Given the description of an element on the screen output the (x, y) to click on. 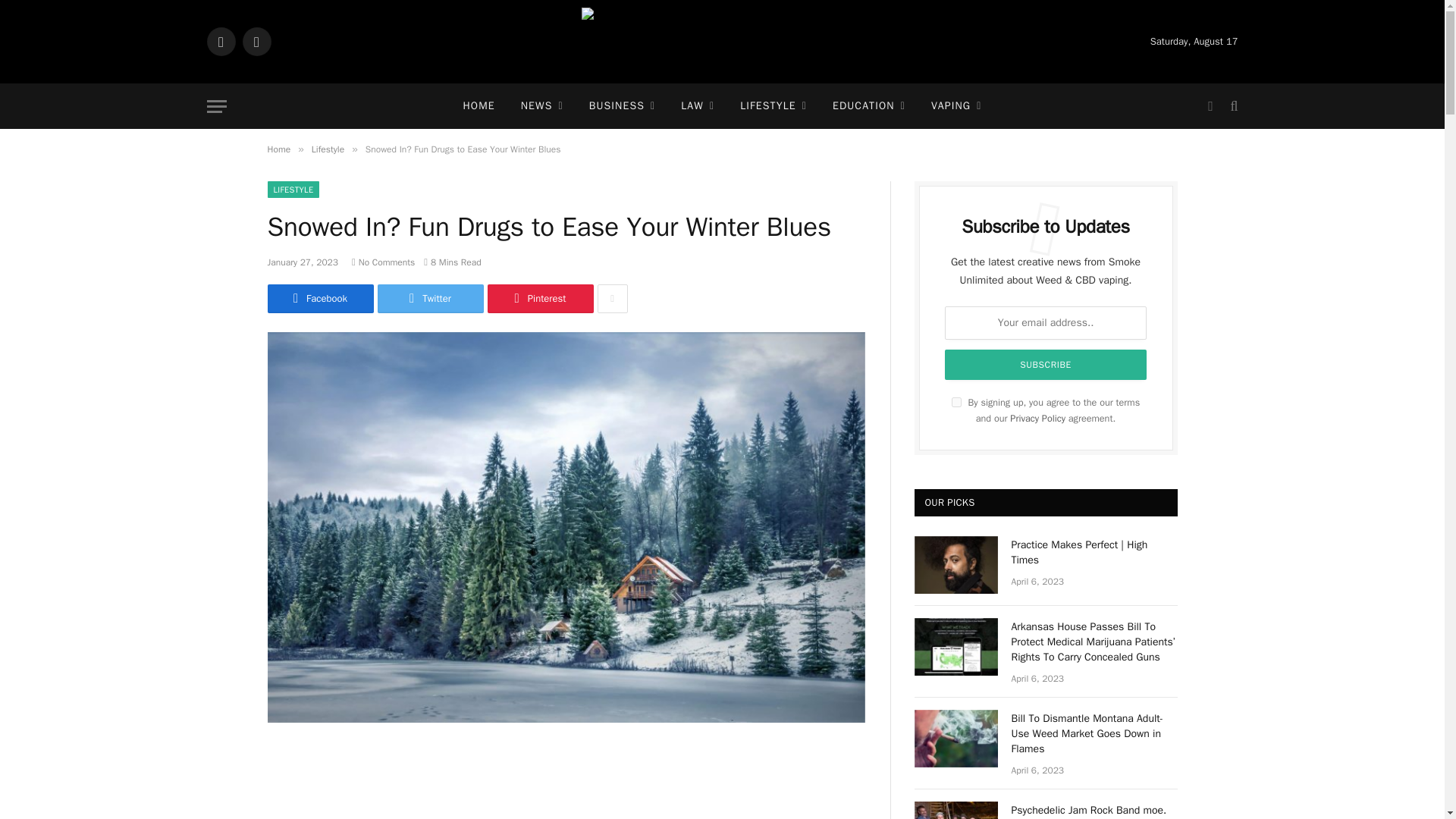
Twitter (256, 41)
on (956, 402)
Subscribe (1045, 364)
NEWS (542, 105)
BUSINESS (622, 105)
Smoke Worldwide (721, 41)
HOME (478, 105)
Facebook (220, 41)
